Given the description of an element on the screen output the (x, y) to click on. 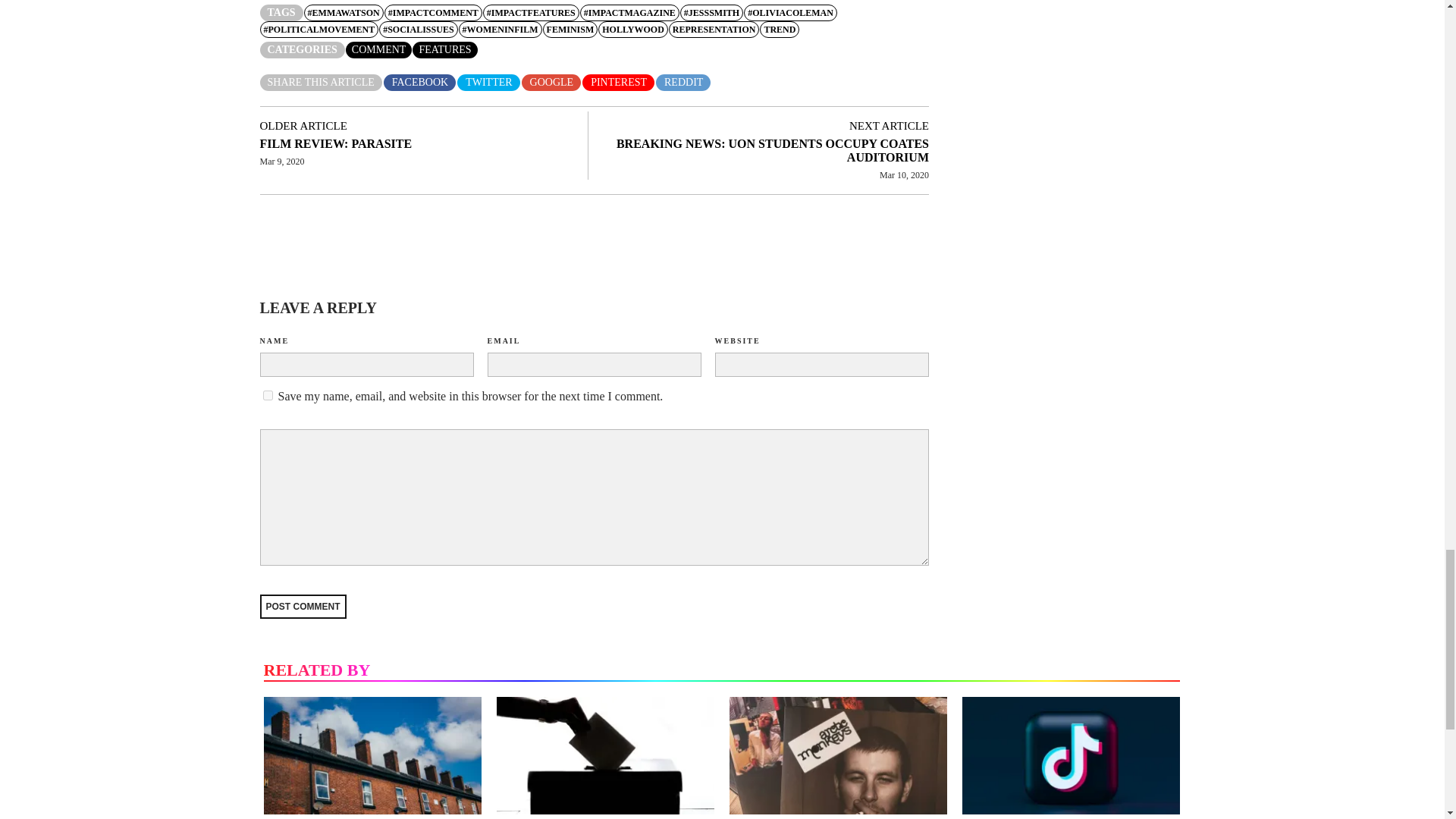
Post comment (302, 606)
yes (267, 395)
